Given the description of an element on the screen output the (x, y) to click on. 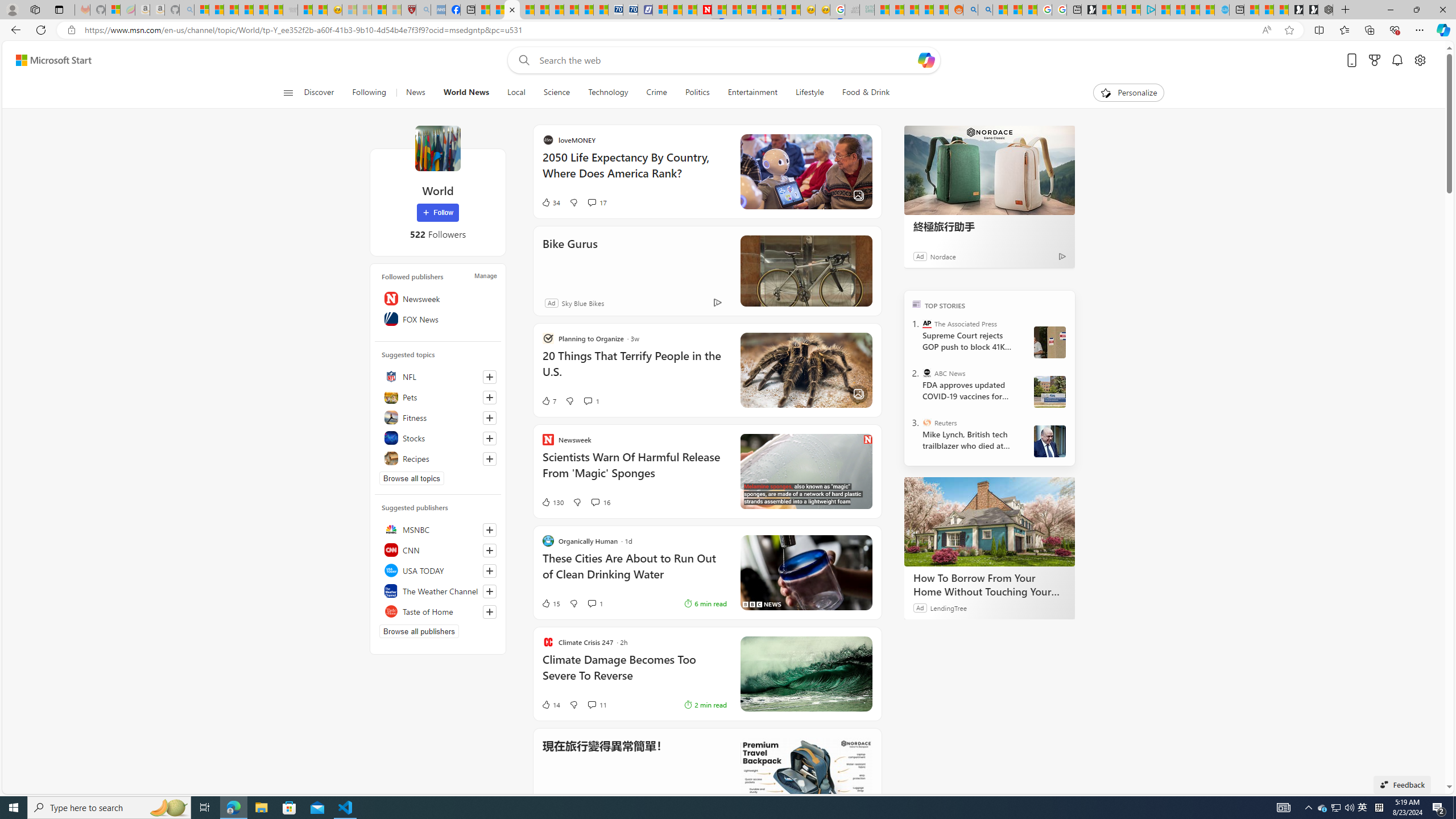
FOX News (437, 318)
View comments 11 Comment (591, 704)
LendingTree (948, 607)
Follow (437, 212)
Fitness (437, 417)
Bike GurusAdSky Blue Bikes (707, 271)
Cheap Hotels - Save70.com (630, 9)
